Given the description of an element on the screen output the (x, y) to click on. 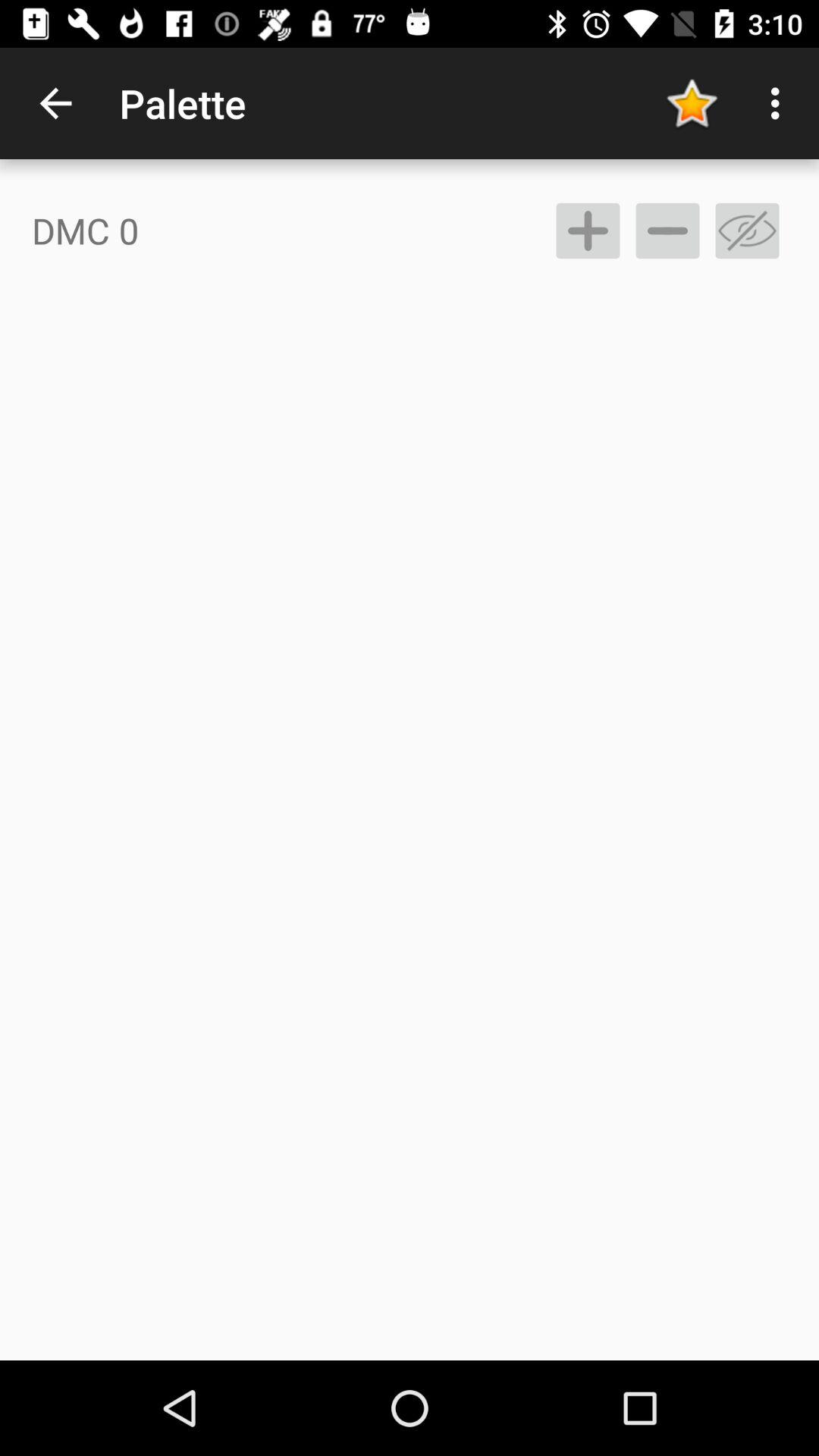
choose the icon at the center (409, 799)
